Given the description of an element on the screen output the (x, y) to click on. 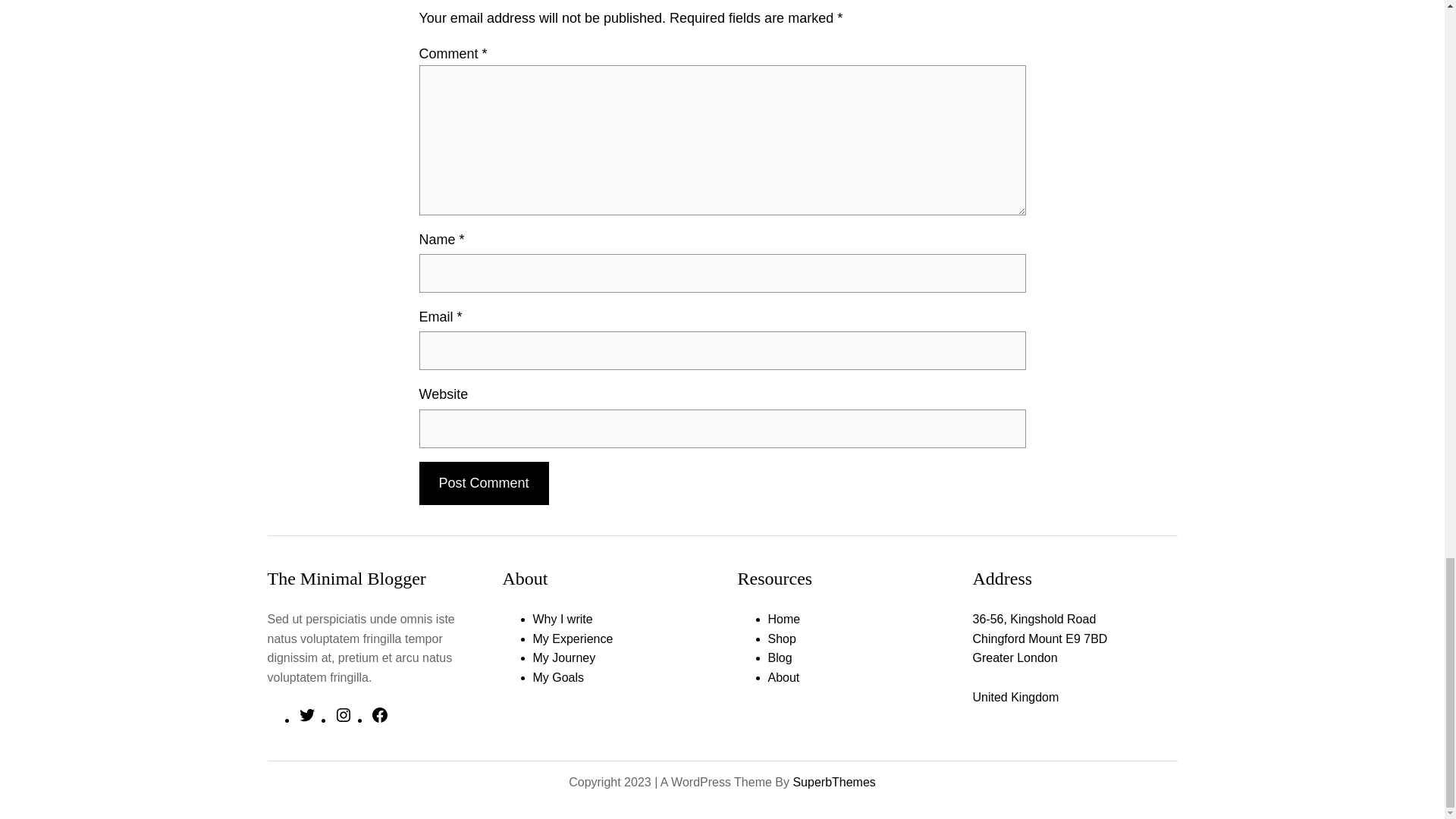
Facebook (378, 718)
My Experience (572, 638)
Twitter (306, 718)
Blog (779, 657)
Shop (780, 638)
About (783, 676)
Post Comment (483, 483)
My Goals (557, 676)
My Journey (563, 657)
Post Comment (483, 483)
Home (783, 618)
Instagram (342, 718)
Why I write (562, 618)
SuperbThemes (833, 781)
